Given the description of an element on the screen output the (x, y) to click on. 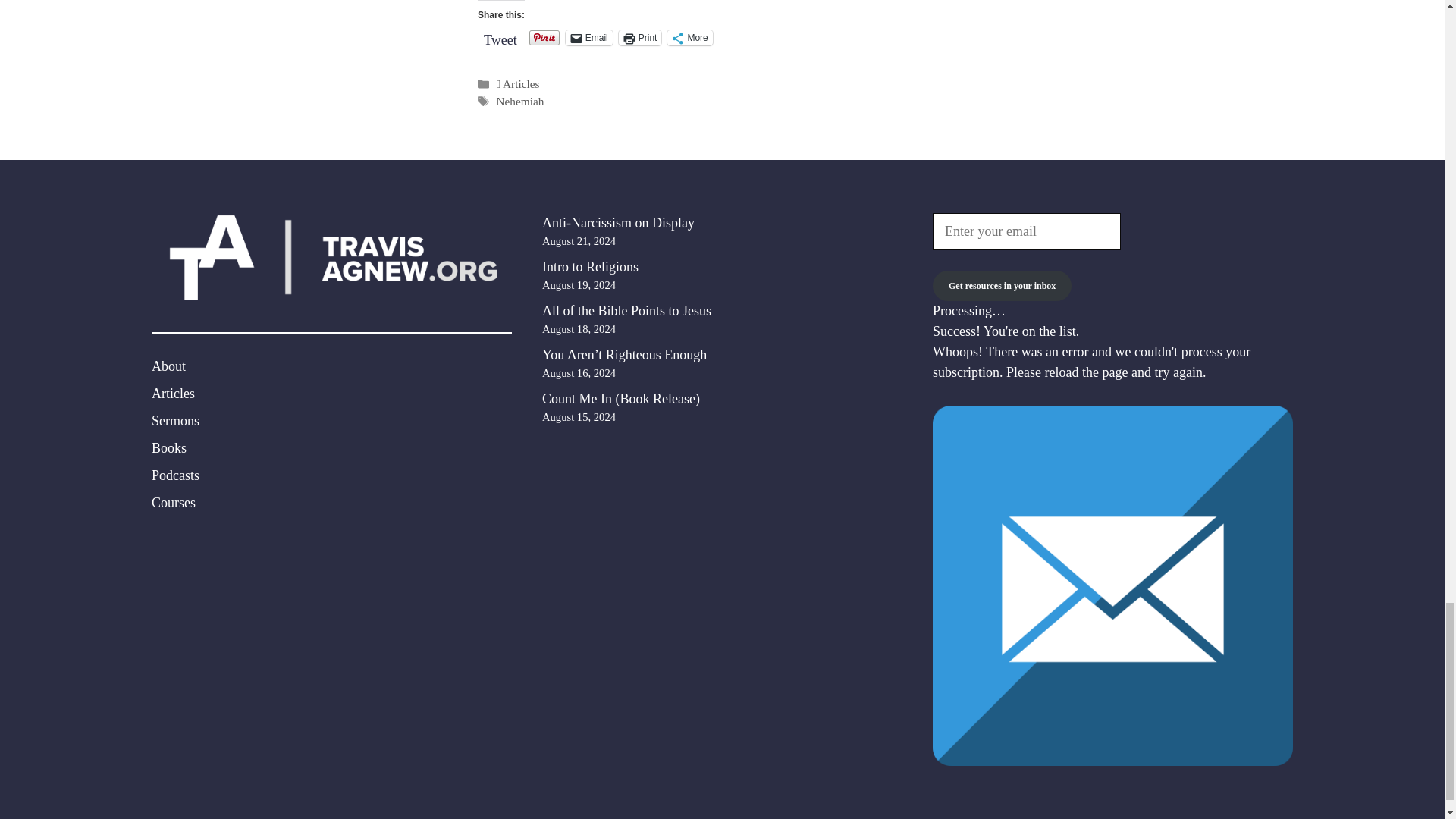
Print (640, 37)
Tweet (499, 37)
More (688, 37)
Click to print (640, 37)
Email (589, 37)
Click to email a link to a friend (589, 37)
